Given the description of an element on the screen output the (x, y) to click on. 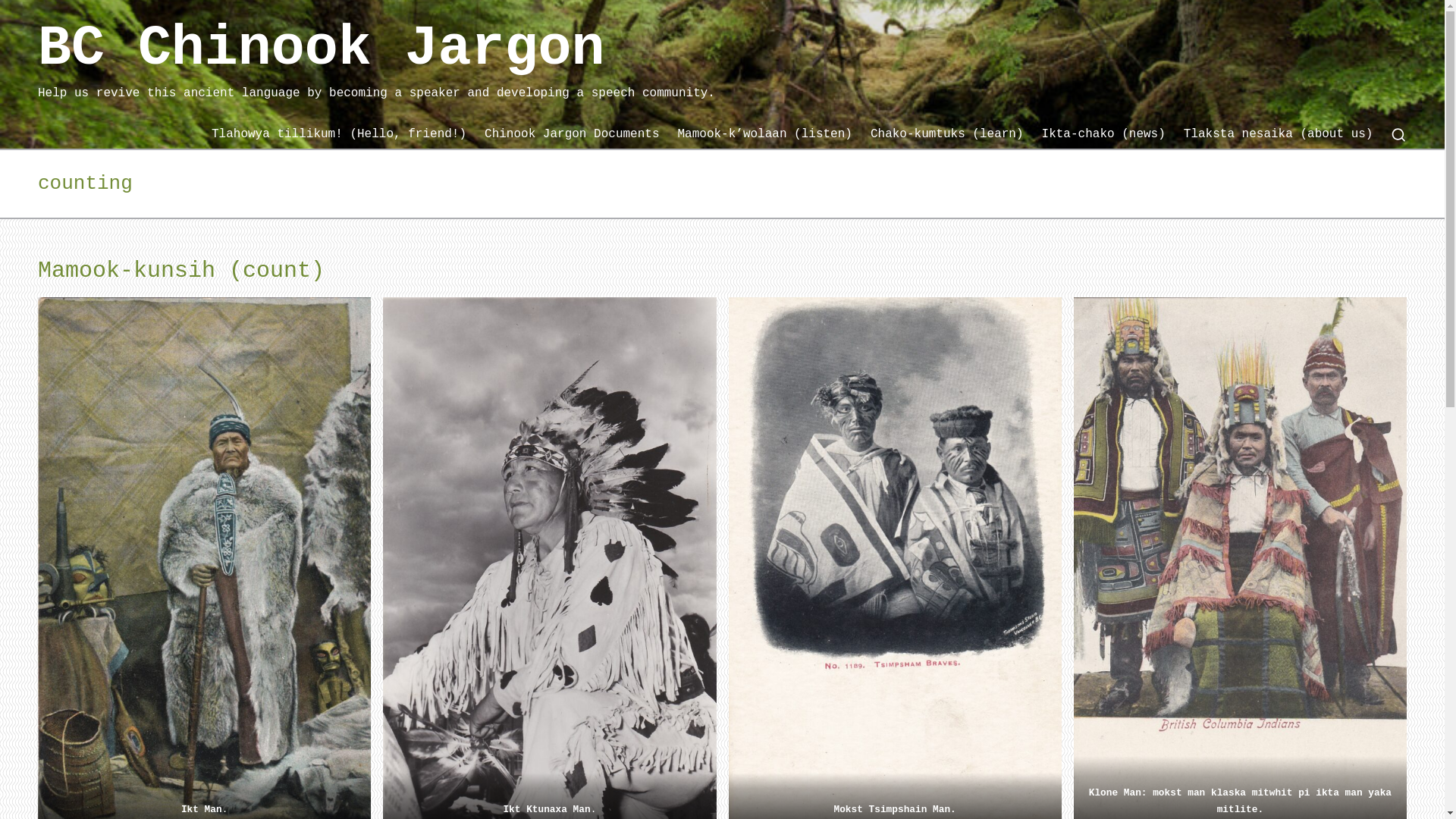
Tlahowya tillikum! (Hello, friend!) Element type: text (338, 134)
Chako-kumtuks (learn) Element type: text (946, 134)
Ikta-chako (news) Element type: text (1103, 134)
Tlaksta nesaika (about us) Element type: text (1278, 134)
Mamook-kunsih (count) Element type: text (180, 270)
Chinook Jargon Documents Element type: text (571, 134)
BC Chinook Jargon Element type: text (376, 49)
